Given the description of an element on the screen output the (x, y) to click on. 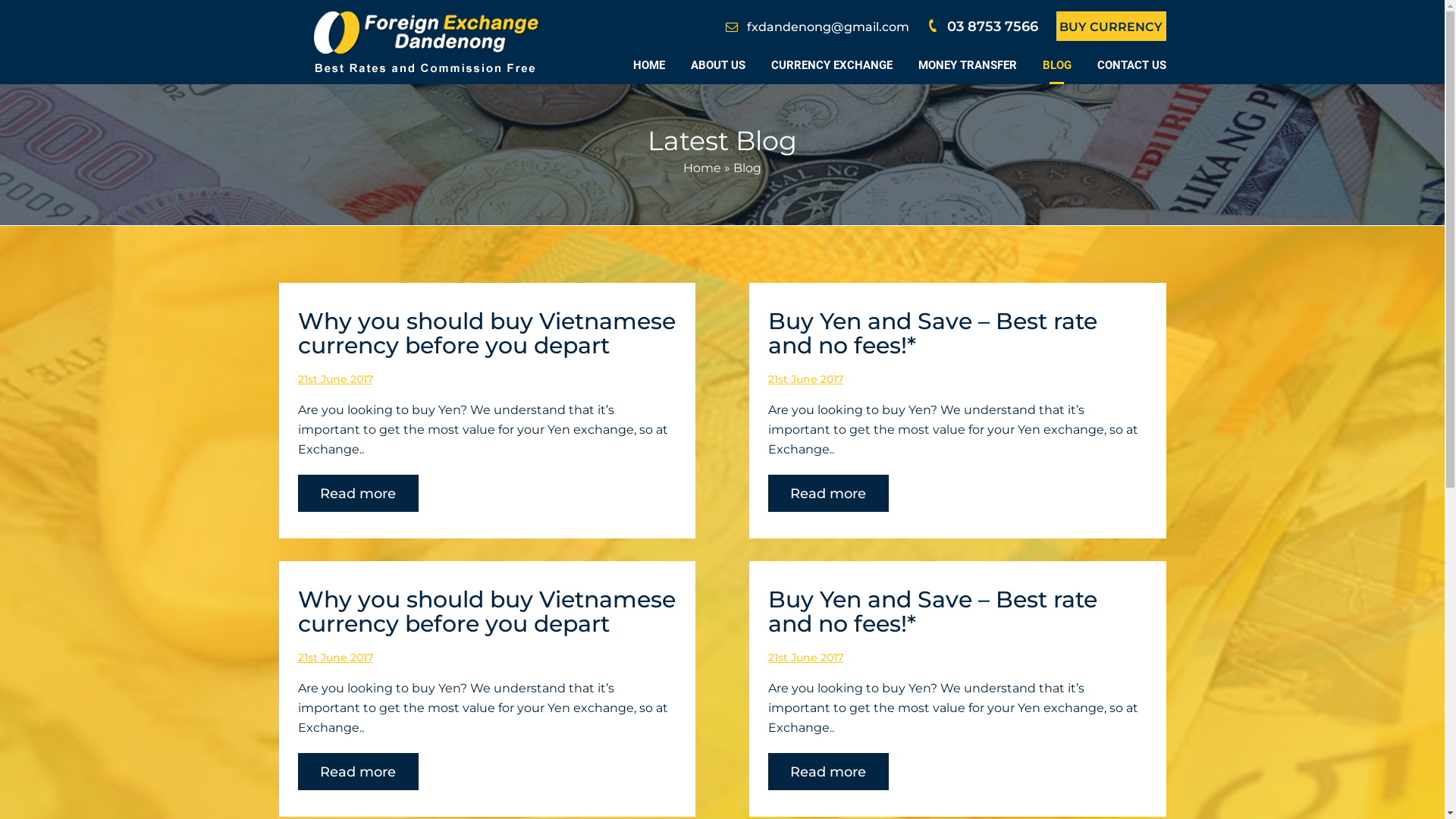
CURRENCY EXCHANGE Element type: text (830, 64)
Read more Element type: text (357, 492)
ABOUT US Element type: text (717, 64)
Read more Element type: text (357, 771)
CONTACT US Element type: text (1130, 64)
Home Element type: text (702, 167)
MONEY TRANSFER Element type: text (966, 64)
fxdandenong@gmail.com Element type: text (827, 26)
BLOG Element type: text (1055, 64)
Read more Element type: text (828, 492)
Read more Element type: text (828, 771)
03 8753 7566 Element type: text (991, 26)
HOME Element type: text (648, 64)
BUY CURRENCY Element type: text (1110, 26)
